Given the description of an element on the screen output the (x, y) to click on. 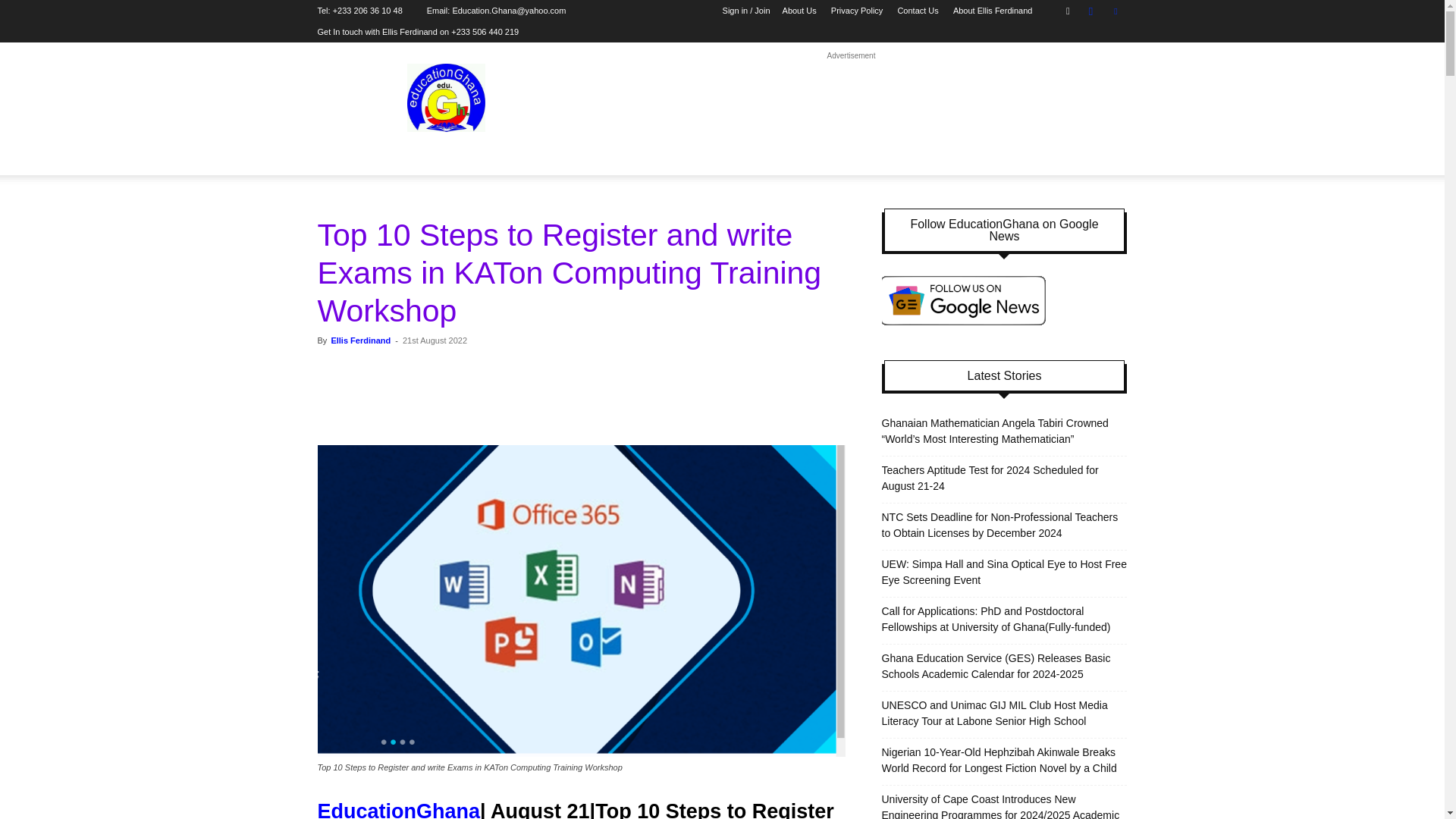
Instagram (1090, 10)
topFacebookLike (430, 367)
Twitter (1114, 10)
